Given the description of an element on the screen output the (x, y) to click on. 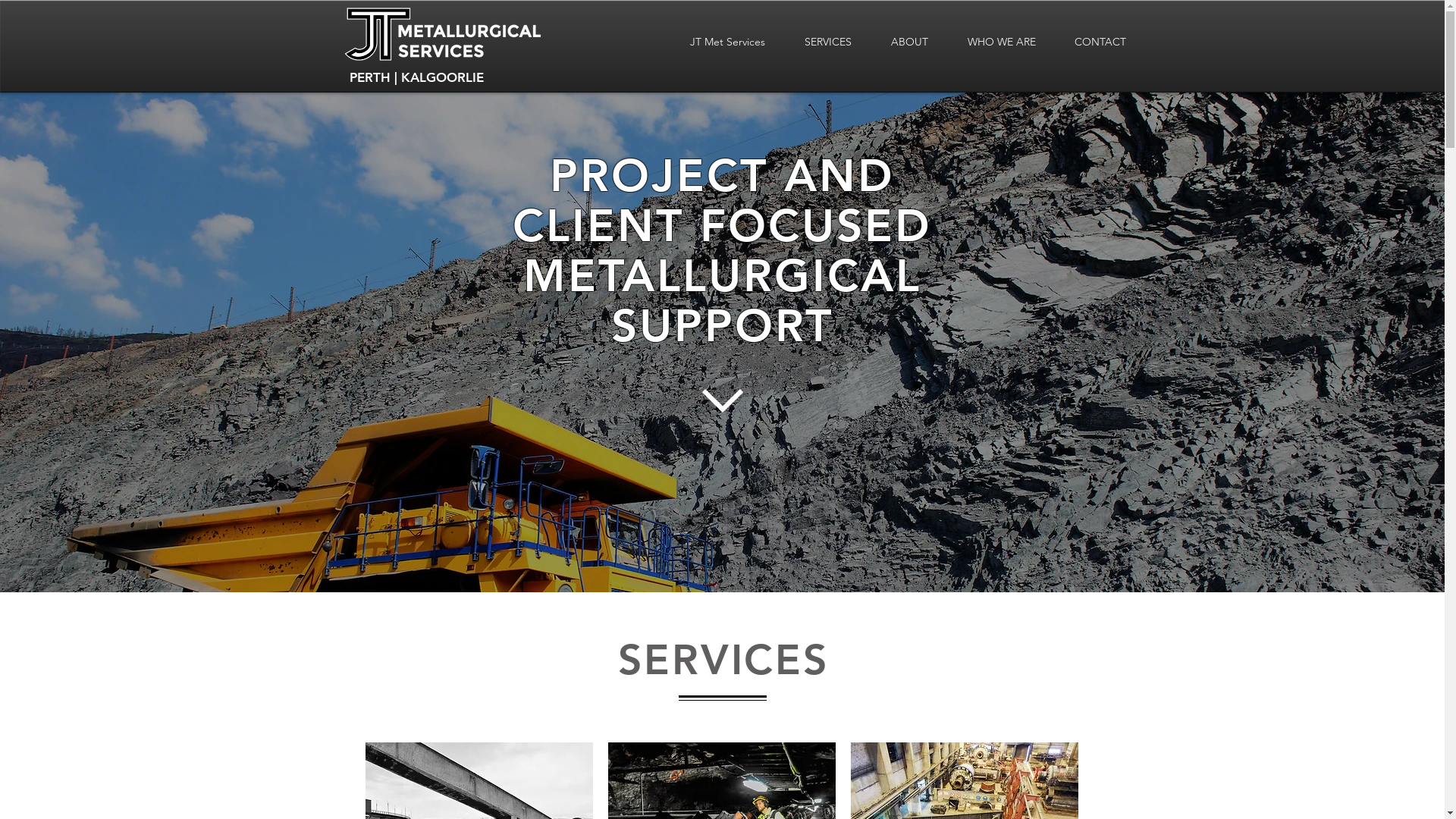
CONTACT Element type: text (1100, 42)
WHO WE ARE Element type: text (1001, 42)
JT Met Services Element type: text (727, 42)
ABOUT Element type: text (908, 42)
SERVICES Element type: text (827, 42)
